Given the description of an element on the screen output the (x, y) to click on. 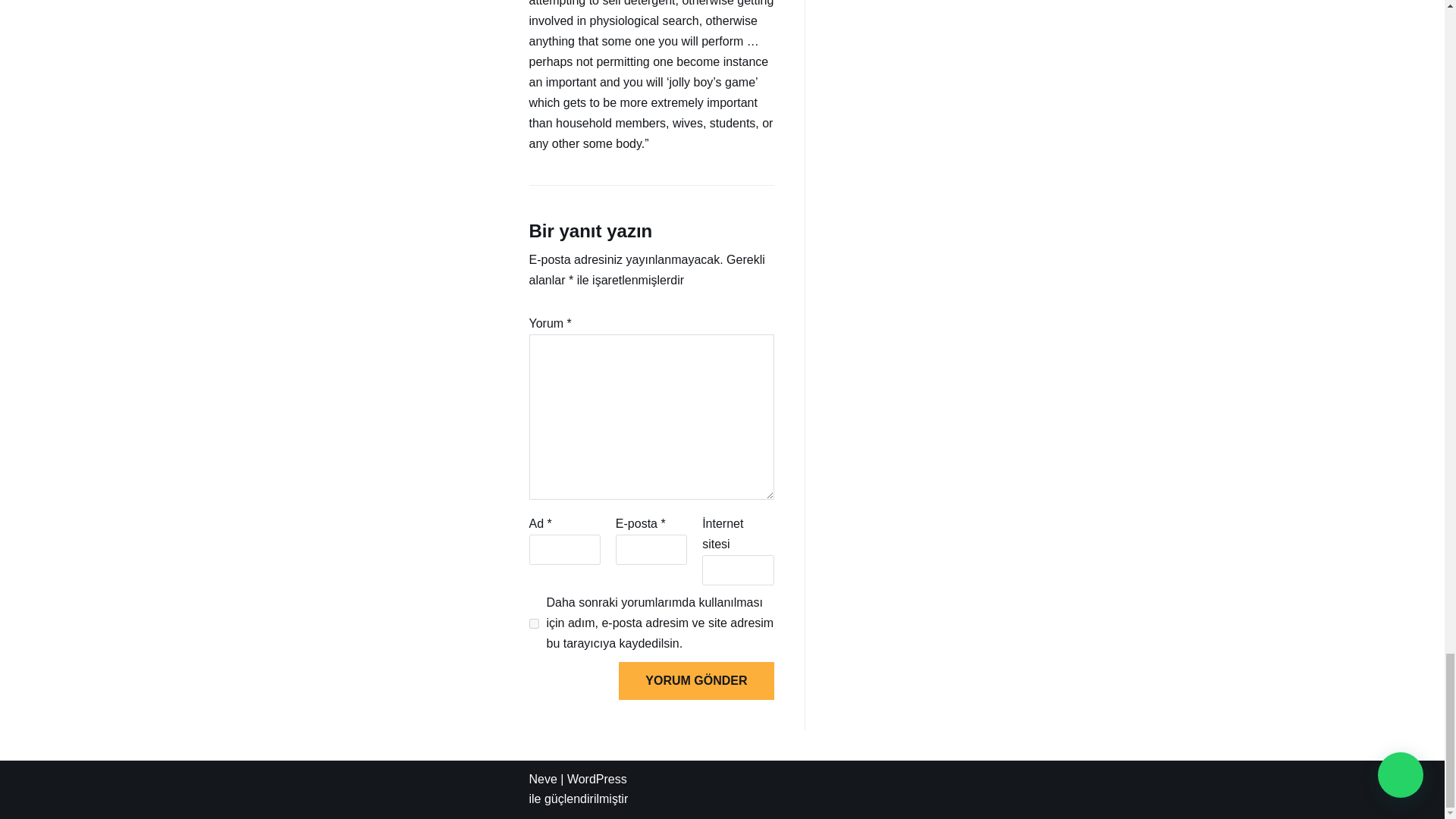
Neve (543, 779)
WordPress (597, 779)
yes (533, 623)
